Given the description of an element on the screen output the (x, y) to click on. 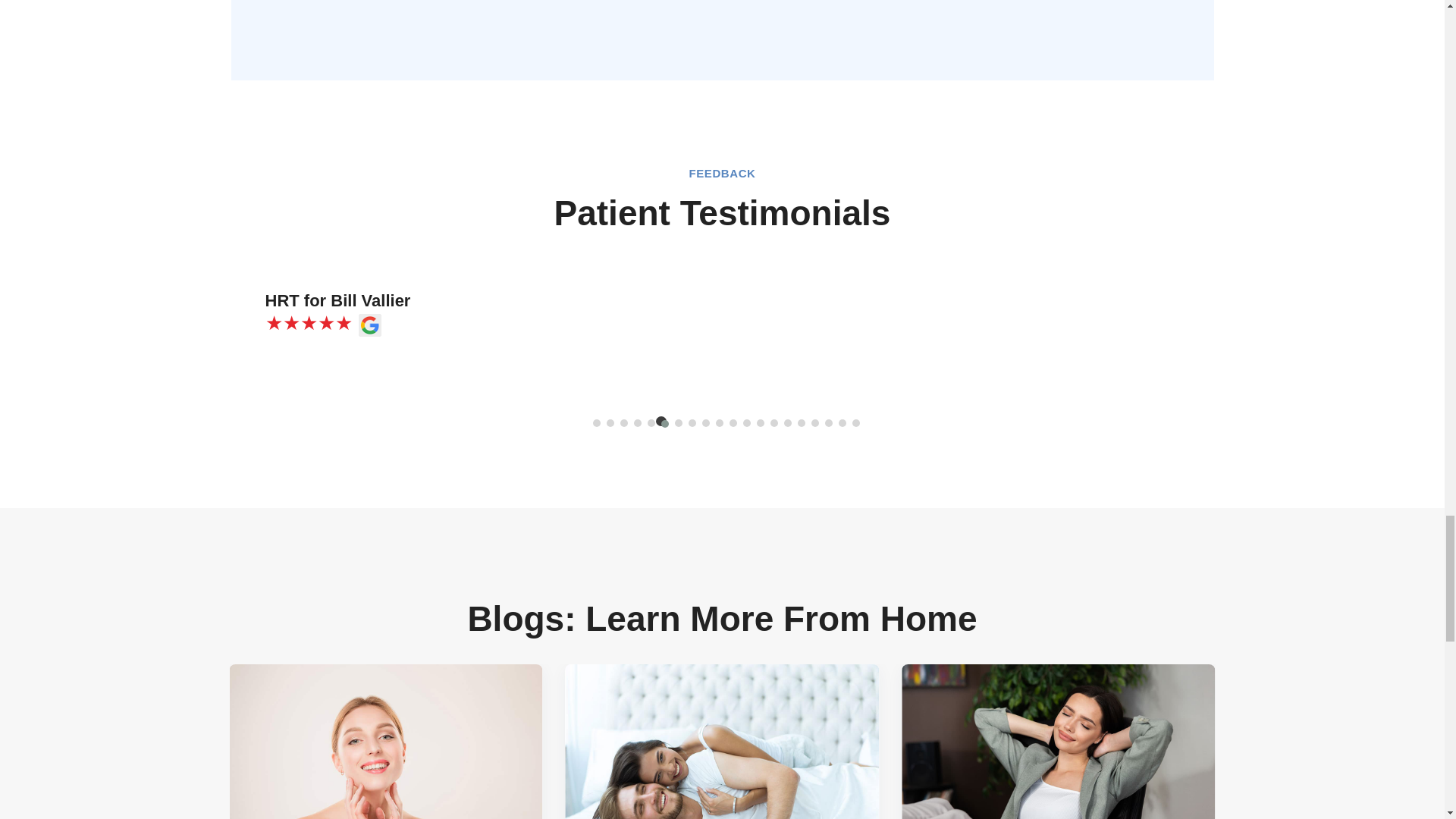
GOOGLE (369, 324)
